Given the description of an element on the screen output the (x, y) to click on. 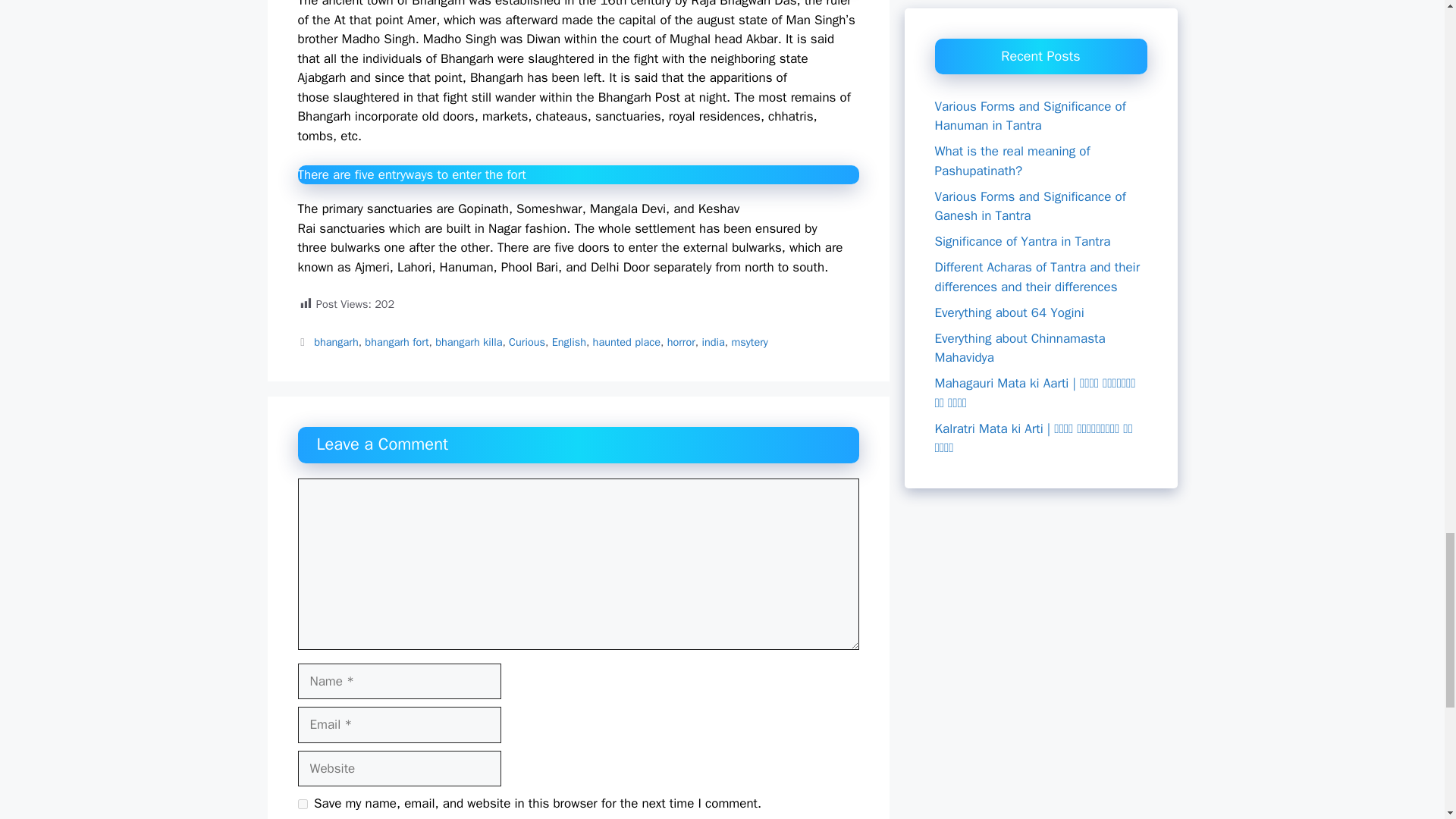
india (713, 341)
English (568, 341)
bhangarh fort (396, 341)
yes (302, 804)
haunted place (626, 341)
bhangarh (336, 341)
Curious (526, 341)
msytery (748, 341)
horror (680, 341)
bhangarh killa (468, 341)
